Given the description of an element on the screen output the (x, y) to click on. 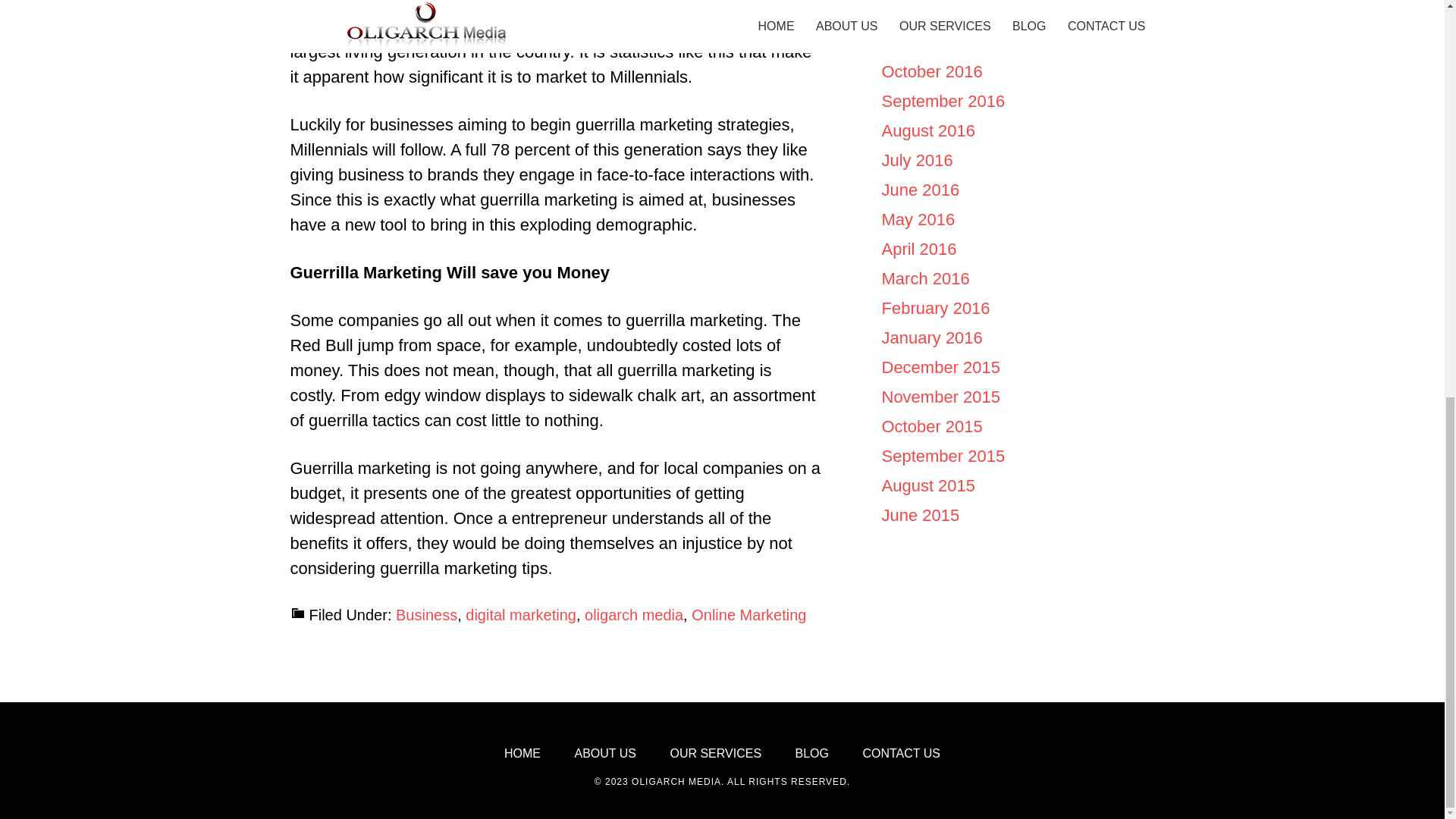
Online Marketing (748, 614)
Business (426, 614)
oligarch media (633, 614)
digital marketing (520, 614)
